Given the description of an element on the screen output the (x, y) to click on. 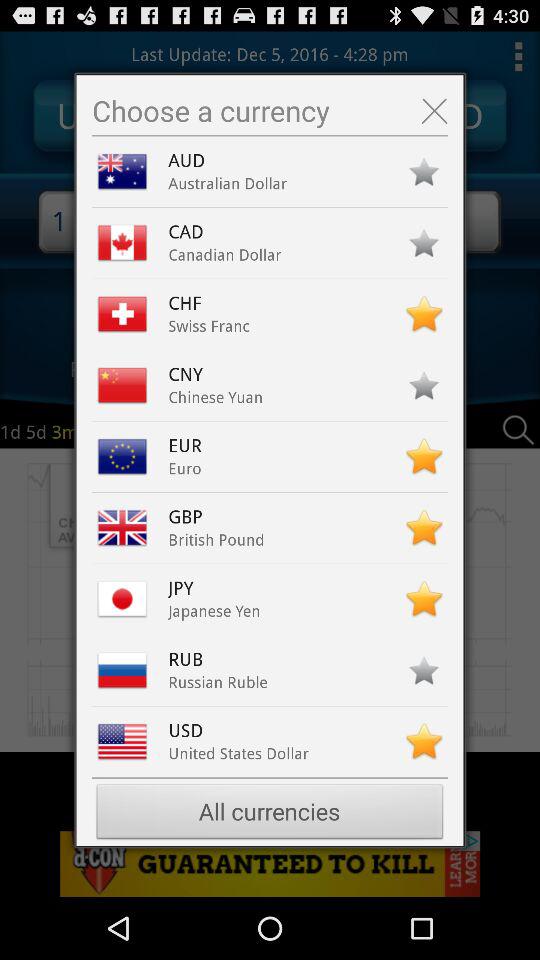
jump until british pound icon (216, 539)
